Given the description of an element on the screen output the (x, y) to click on. 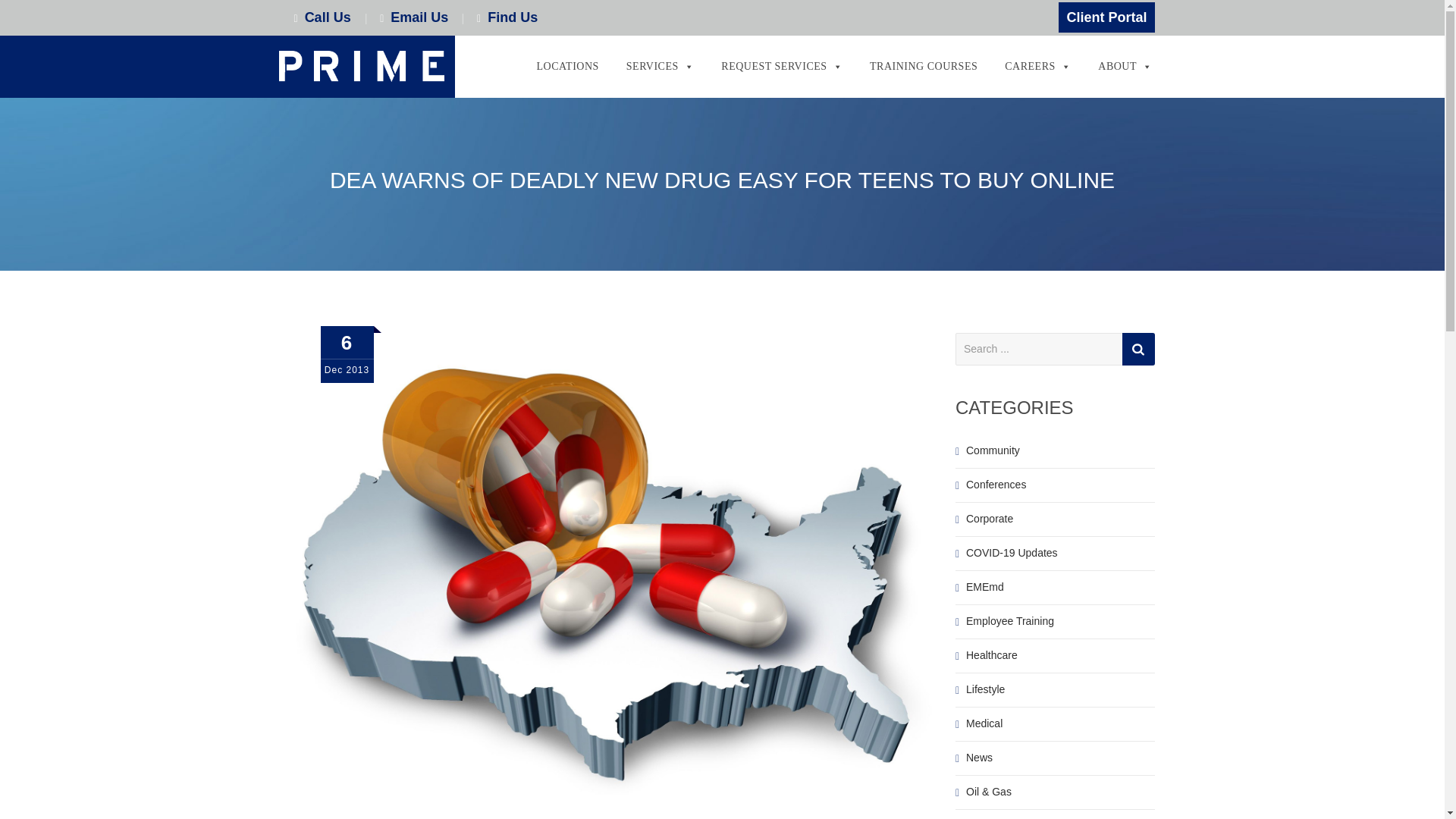
Search (1138, 348)
LOCATIONS (567, 66)
Search for: (1054, 348)
Search (1138, 348)
REQUEST SERVICES (781, 66)
Call Us (329, 17)
PRIME Occupational Medicine (361, 66)
Email Us (419, 17)
Client Portal (1106, 16)
